Given the description of an element on the screen output the (x, y) to click on. 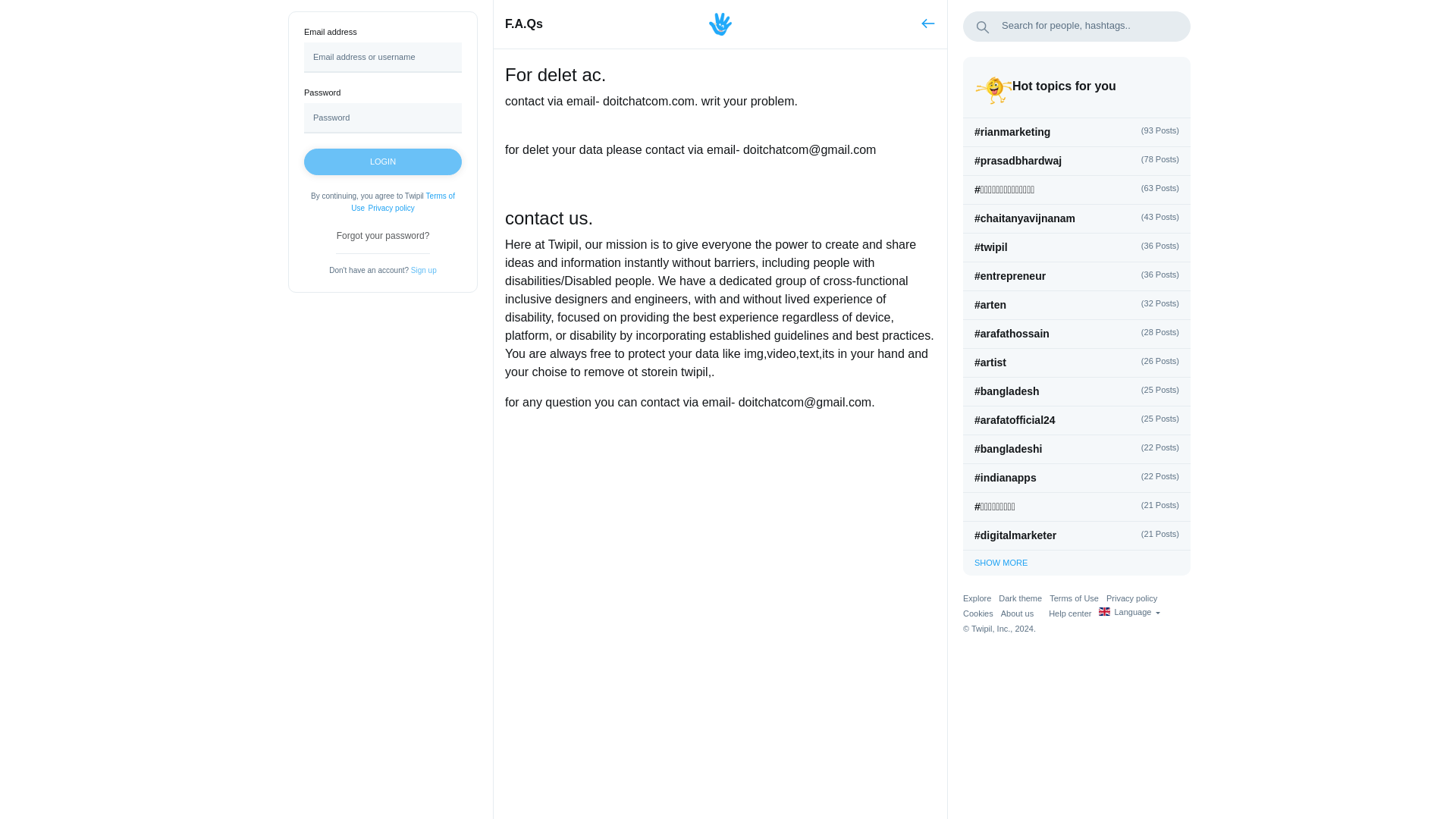
Sign up (423, 270)
Forgot your password? (382, 235)
Privacy policy (391, 207)
Terms of Use (402, 201)
LOGIN (382, 161)
